Given the description of an element on the screen output the (x, y) to click on. 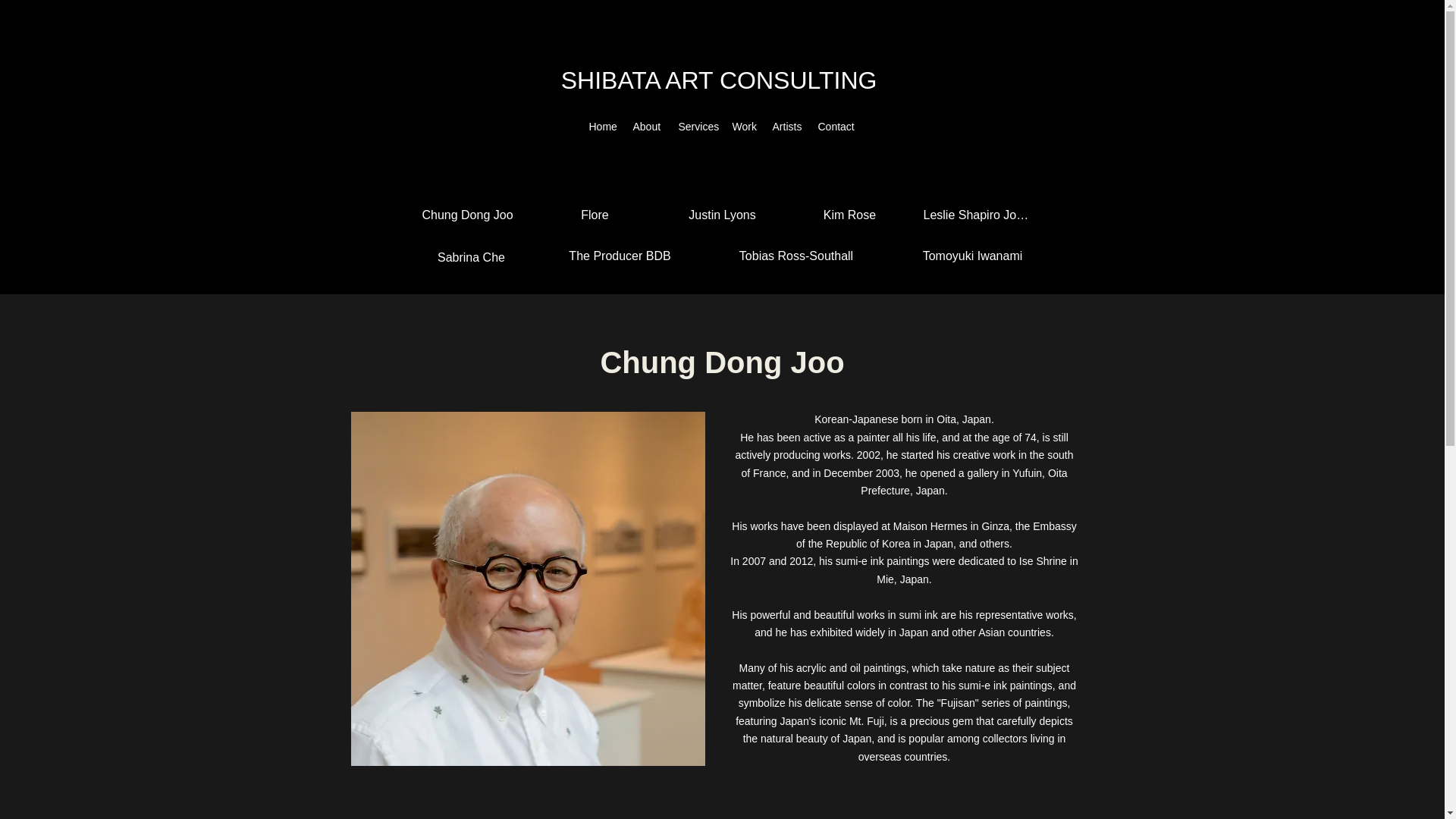
Justin Lyons (722, 214)
Kim Rose (850, 214)
Leslie Shapiro Joyal (976, 214)
Contact (836, 126)
The Producer BDB (619, 255)
Sabrina Che (470, 257)
Home (602, 126)
Tobias Ross-Southall (795, 255)
About (646, 126)
SHIBATA ART CONSULTING  (721, 80)
